Given the description of an element on the screen output the (x, y) to click on. 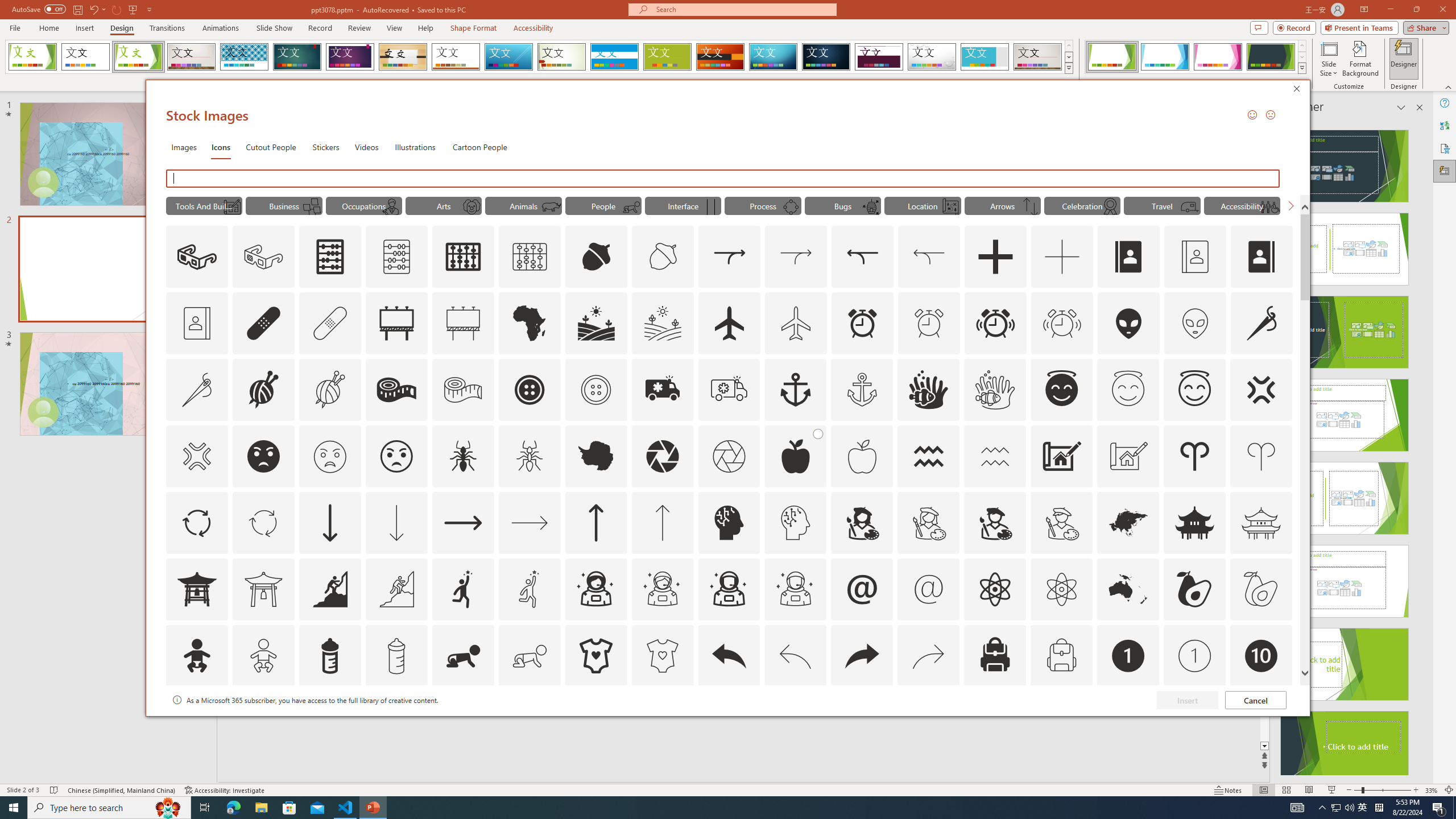
AutomationID: Icons_Trailer_M (1190, 206)
AutomationID: Icons_AngryFace (263, 455)
AutomationID: Icons_Badge6_M (861, 721)
"Tools And Building" Icons. (203, 205)
AutomationID: Icons_Badge4 (529, 721)
Icons (220, 146)
AutomationID: Icons_AlterationsTailoring (1261, 323)
AutomationID: Icons_Asia (1128, 522)
